Given the description of an element on the screen output the (x, y) to click on. 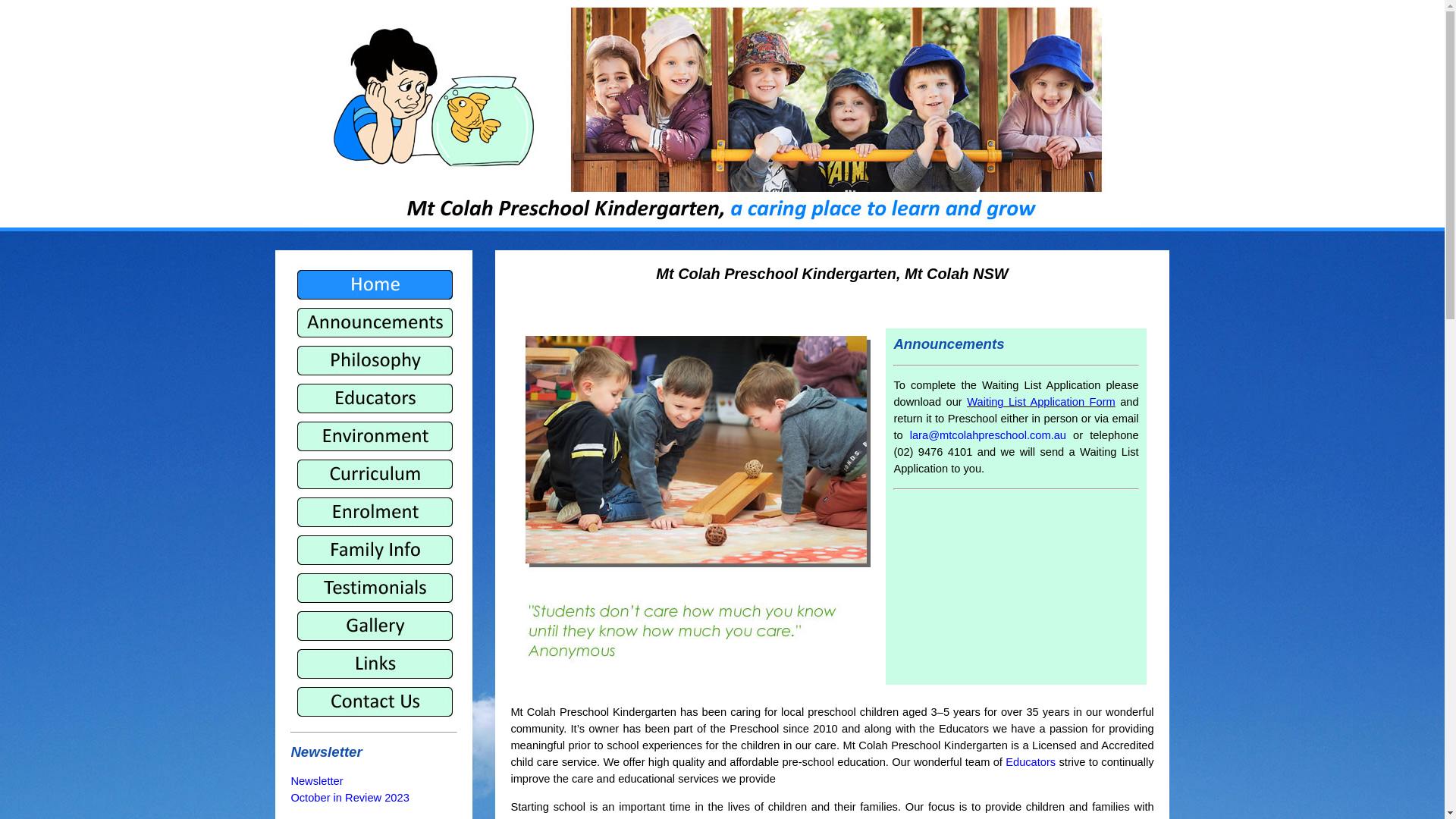
Mt Colah Preschool Kindergarten - Testimonials Element type: hover (373, 587)
Educators Element type: text (1030, 762)
Mt Colah Preschool Kindergarten - Home Element type: hover (373, 284)
Mt Colah Preschool Kindergarten - Links Element type: hover (373, 663)
Mt Colah Preschool Kindergarten - Gallery Element type: hover (373, 625)
Mt Colah Preschool Kindergarten - Curriculum Element type: hover (373, 473)
Waiting List Application Form Element type: text (1040, 401)
Mt Colah Preschool Kindergarten - Family Infomation Element type: hover (373, 549)
Mt Colah Preschool Kindergarten - Philosophy Element type: hover (373, 360)
Newsletter
October in Review 2023 Element type: text (349, 789)
lara@mtcolahpreschool.com.au Element type: text (988, 435)
Mt Colah Preschool Kindergarten - Educators Element type: hover (373, 398)
Mt Colah Preschool Kindergarten - Announcements Element type: hover (373, 322)
Mt Colah Preschool Kindergarten - Mt Colah NSW Australia Element type: hover (721, 113)
Mt Colah Preschool Kindergarten - Environment Element type: hover (373, 436)
Mt Colah Preschool Kindergarten - Enrolment Element type: hover (373, 511)
Mt Colah Preschool Kindergarten - Contact Us Element type: hover (373, 701)
